Given the description of an element on the screen output the (x, y) to click on. 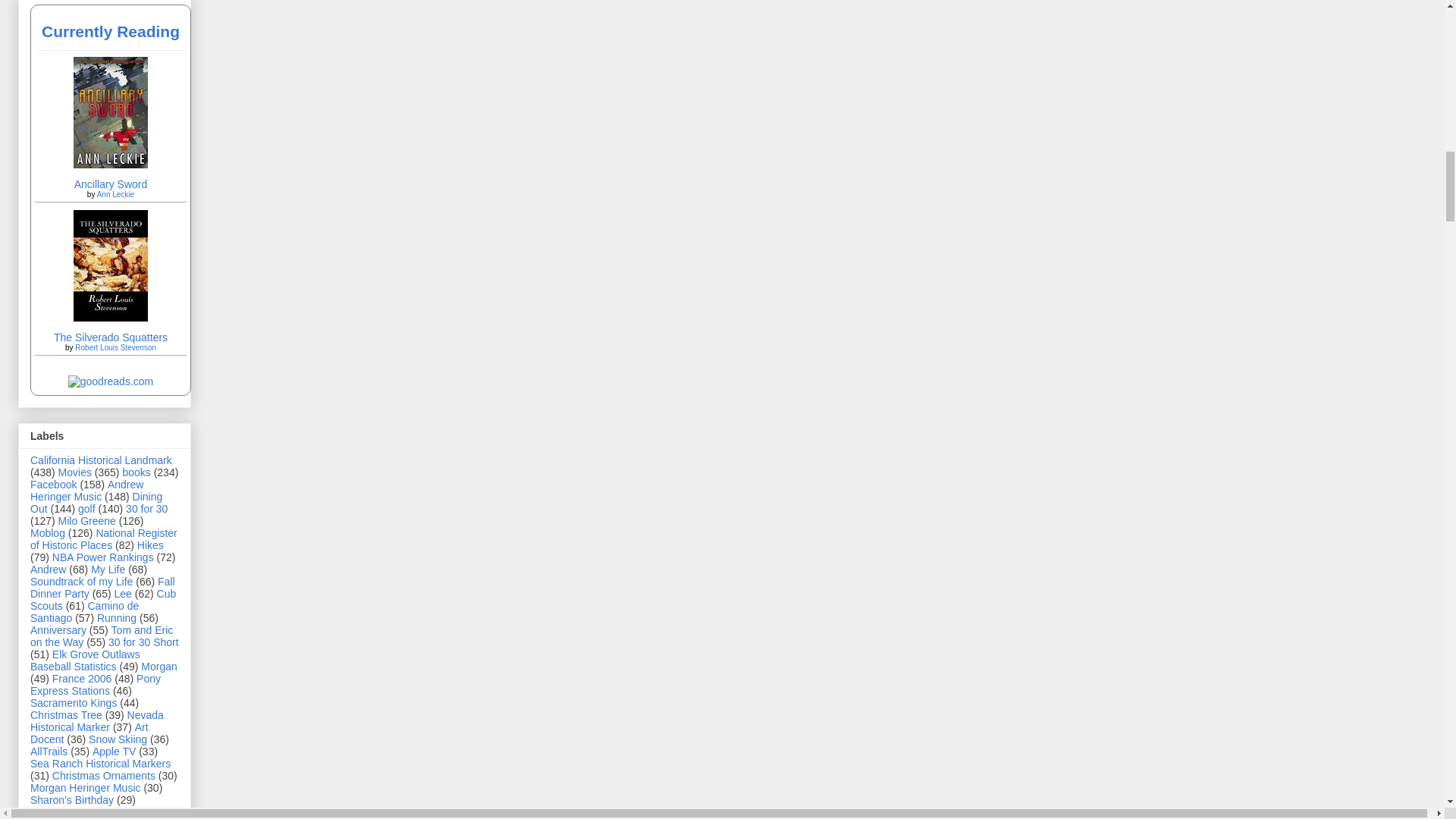
Currently Reading (110, 31)
Movies (74, 472)
Ann Leckie (115, 194)
California Historical Landmark (100, 460)
The Silverado Squatters (111, 317)
books (135, 472)
Ancillary Sword (110, 184)
Robert Louis Stevenson (115, 347)
The Silverado Squatters (110, 337)
Facebook (53, 484)
